Given the description of an element on the screen output the (x, y) to click on. 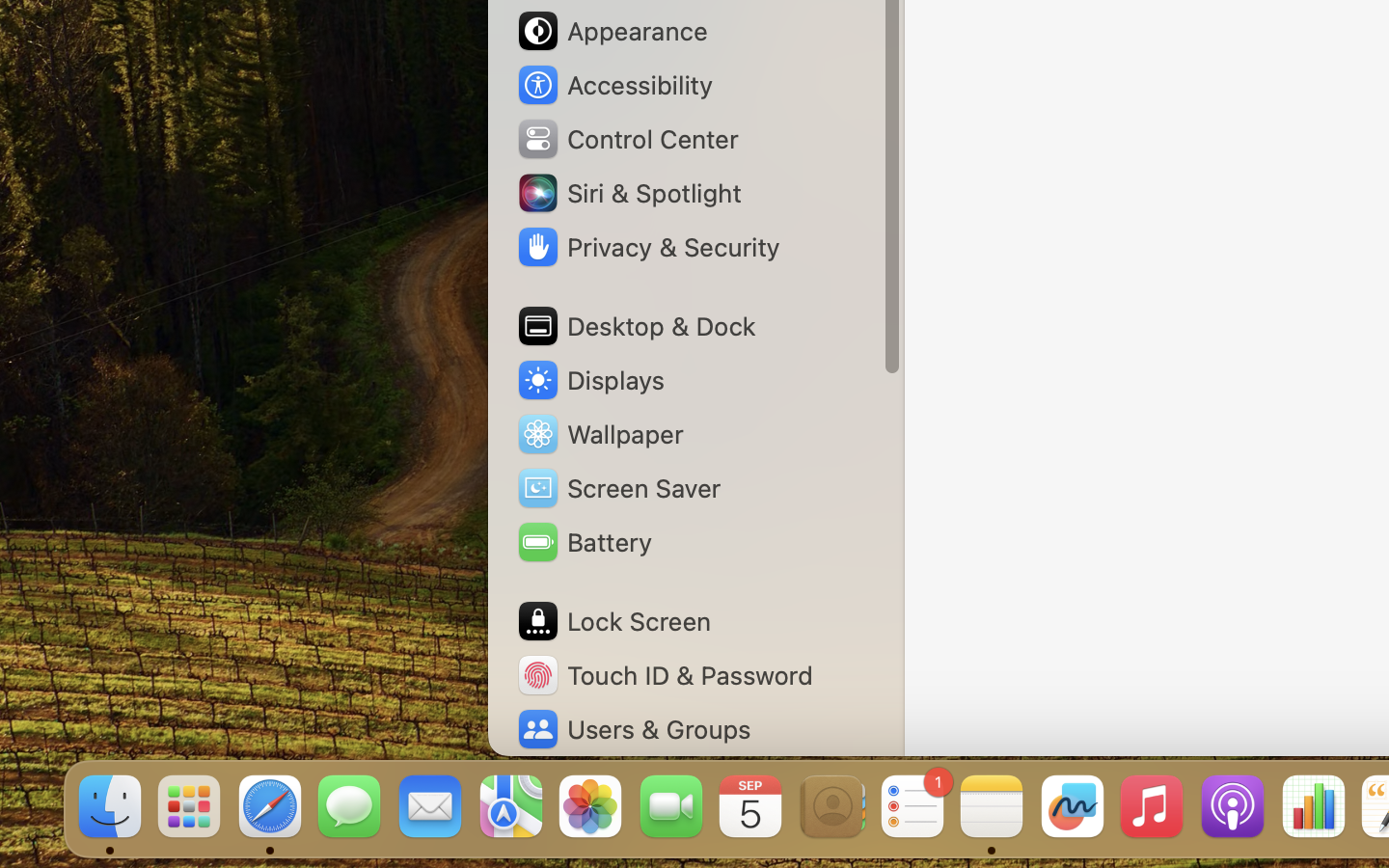
Lock Screen Element type: AXStaticText (613, 620)
Touch ID & Password Element type: AXStaticText (664, 674)
Displays Element type: AXStaticText (590, 379)
Battery Element type: AXStaticText (583, 541)
Control Center Element type: AXStaticText (626, 138)
